Given the description of an element on the screen output the (x, y) to click on. 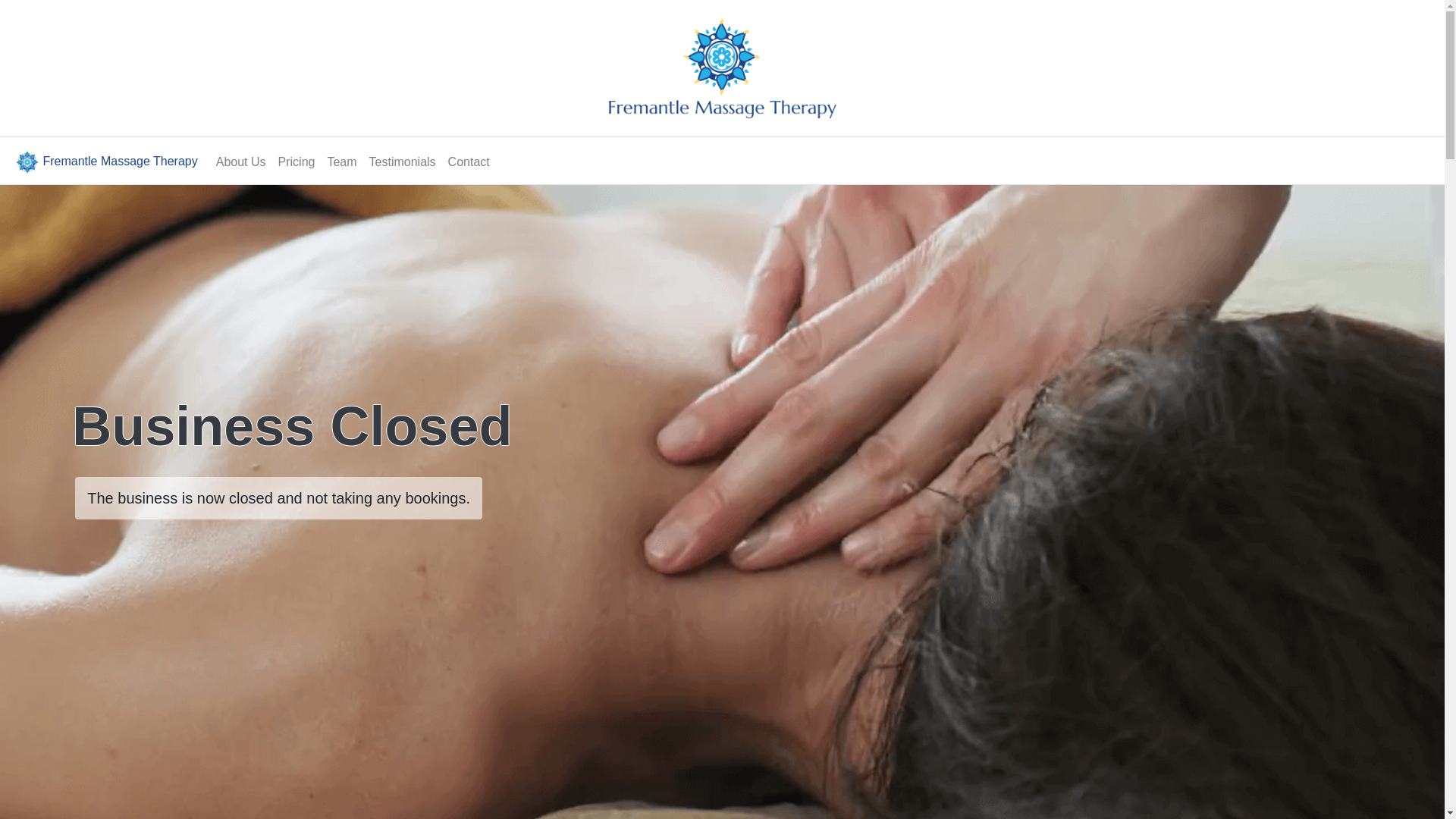
About Us Element type: text (241, 162)
Fremantle Massage Therapy Element type: text (104, 162)
Contact Element type: text (468, 162)
Team Element type: text (341, 162)
Pricing Element type: text (296, 162)
Testimonials Element type: text (402, 162)
